Given the description of an element on the screen output the (x, y) to click on. 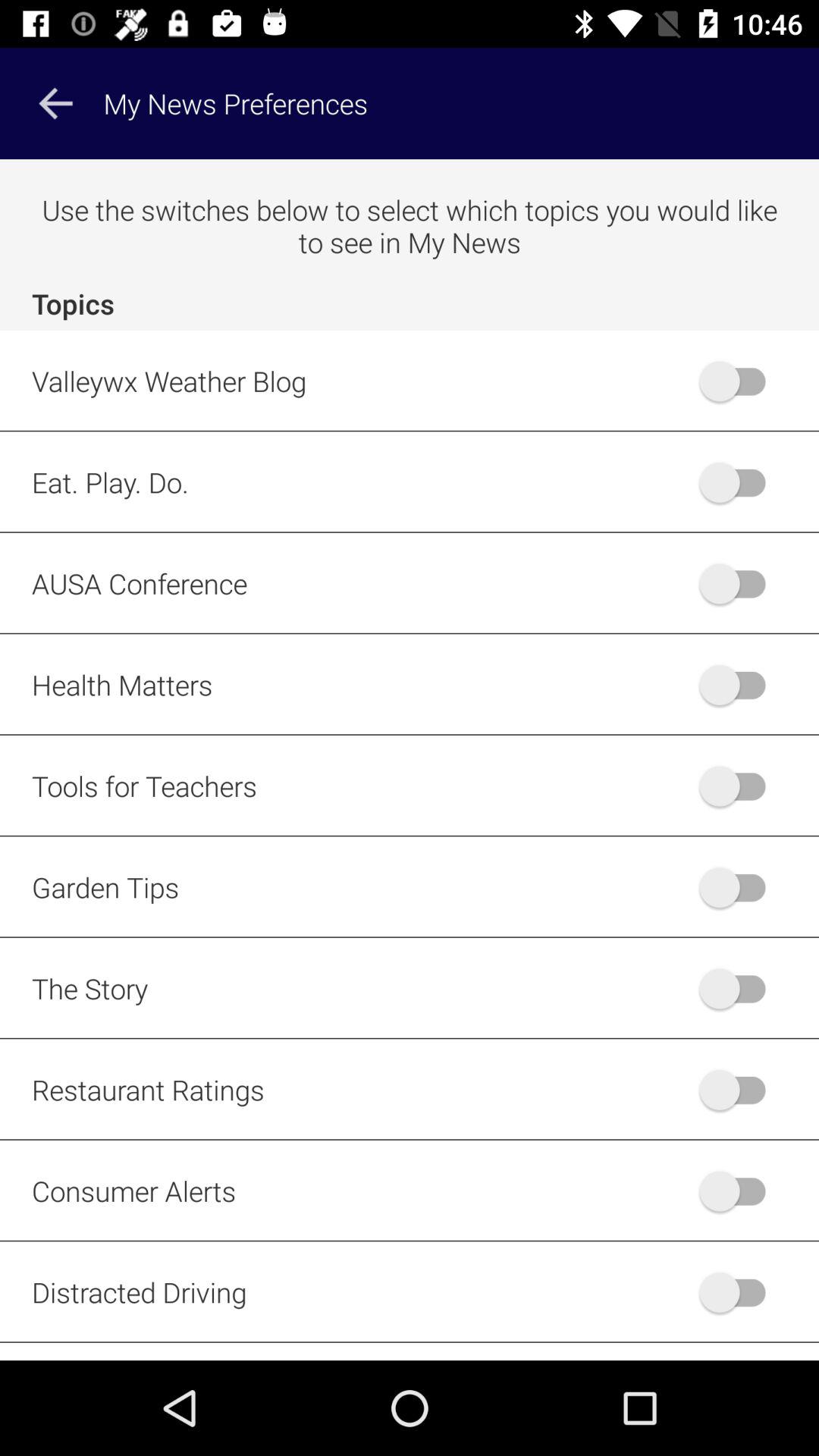
toggle health matters news (739, 684)
